Given the description of an element on the screen output the (x, y) to click on. 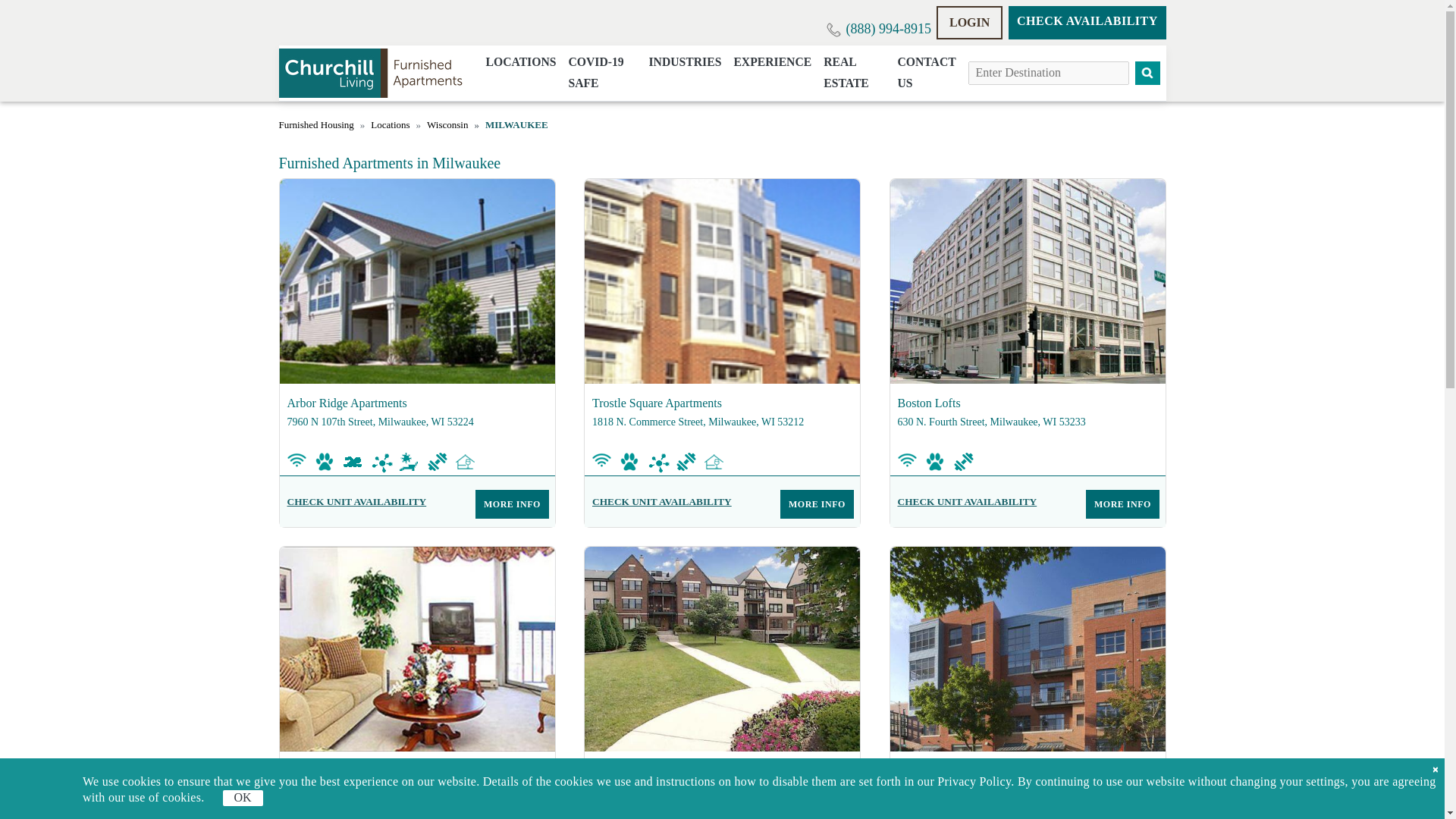
Wisconsin (446, 125)
Health Club (437, 461)
Pets Allowed (629, 461)
Graphic Arbor Ridge Apartments (416, 281)
Graphic Boston Lofts (1027, 281)
REAL ESTATE (853, 72)
Image of Boston Lofts (1027, 281)
COVID-19 SAFE (602, 72)
EXPERIENCE (771, 61)
Clubhouse (713, 461)
